Given the description of an element on the screen output the (x, y) to click on. 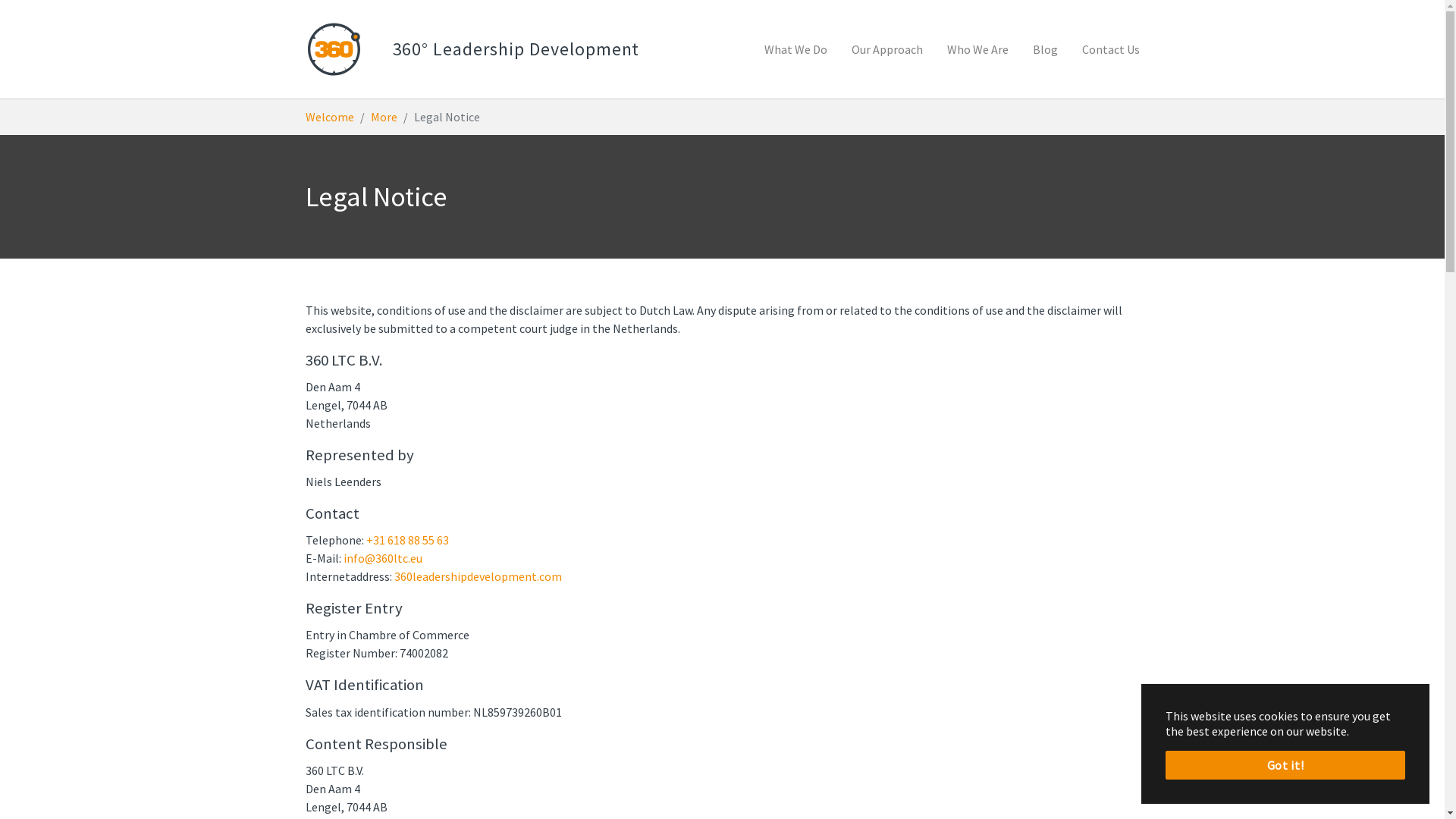
Our Approach Element type: text (886, 49)
What We Do Element type: text (795, 49)
Welcome Element type: text (328, 116)
Got it! Element type: text (1285, 764)
+31 618 88 55 63 Element type: text (406, 539)
Who We Are Element type: text (976, 49)
Contact Us Element type: text (1110, 49)
Blog Element type: text (1045, 49)
More Element type: text (383, 116)
360leadershipdevelopment.com Element type: text (477, 575)
info@360ltc.eu Element type: text (381, 557)
